Given the description of an element on the screen output the (x, y) to click on. 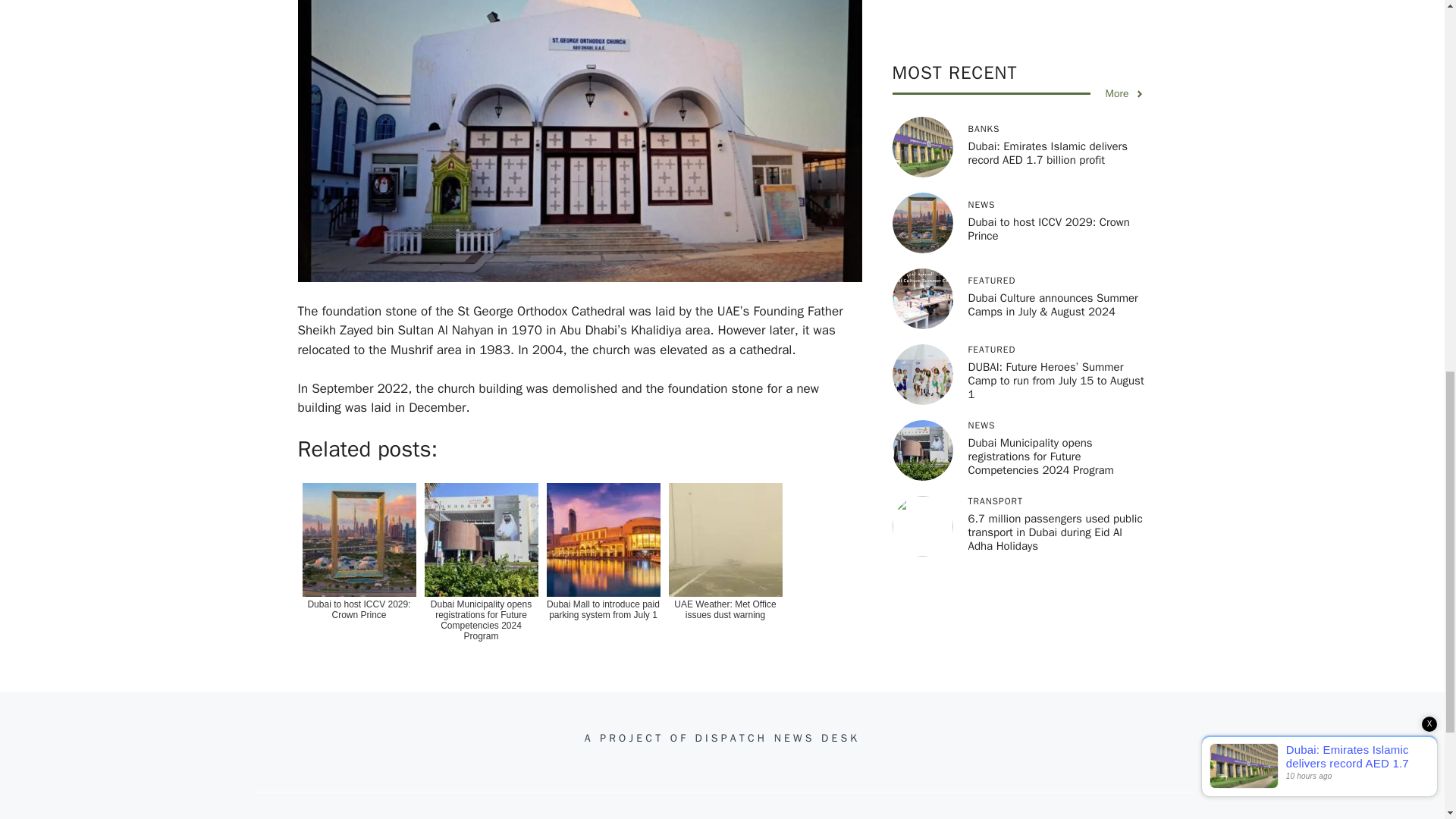
Dubai Mall to introduce paid parking system from July 1 (602, 568)
Dubai to host ICCV 2029: Crown Prince (358, 568)
UAE Weather: Met Office issues dust warning (725, 568)
